Given the description of an element on the screen output the (x, y) to click on. 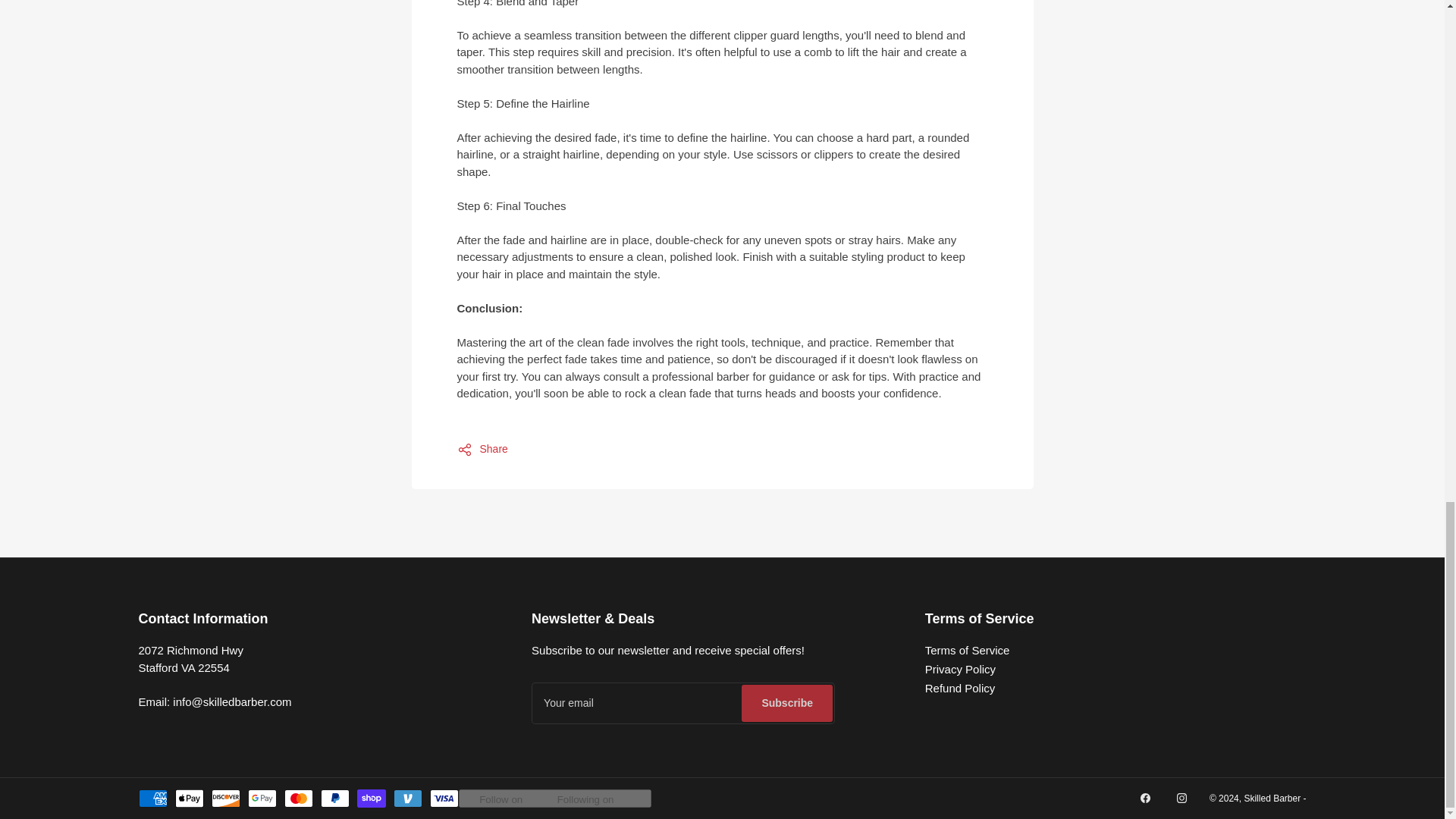
Privacy Policy (959, 668)
Subscribe (786, 702)
Visa (443, 798)
Apple Pay (188, 798)
Discover (225, 798)
Skilled Barber (1271, 798)
American Express (152, 798)
Shop Pay (370, 798)
Refund Policy (959, 687)
Venmo (407, 798)
Instagram (1181, 798)
Mastercard (298, 798)
Google Pay (261, 798)
PayPal (334, 798)
Facebook (1144, 798)
